Given the description of an element on the screen output the (x, y) to click on. 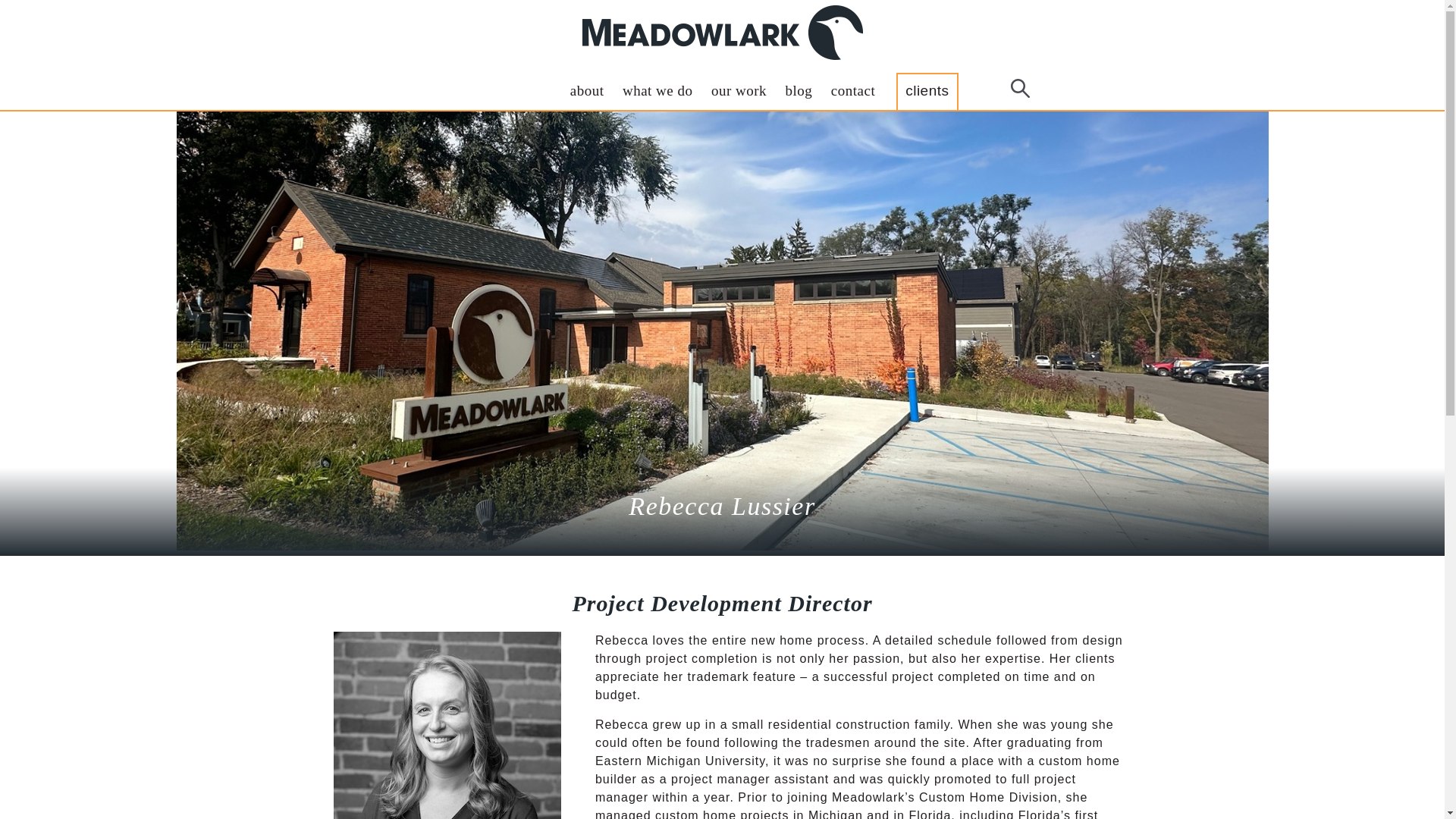
blog (799, 90)
meadowlark-logo (722, 31)
our work (738, 90)
about (587, 90)
contact (852, 90)
clients (927, 90)
REBECCA L JULY 2021 RETAKE BW THUMBNAIL (446, 725)
what we do (657, 90)
